Given the description of an element on the screen output the (x, y) to click on. 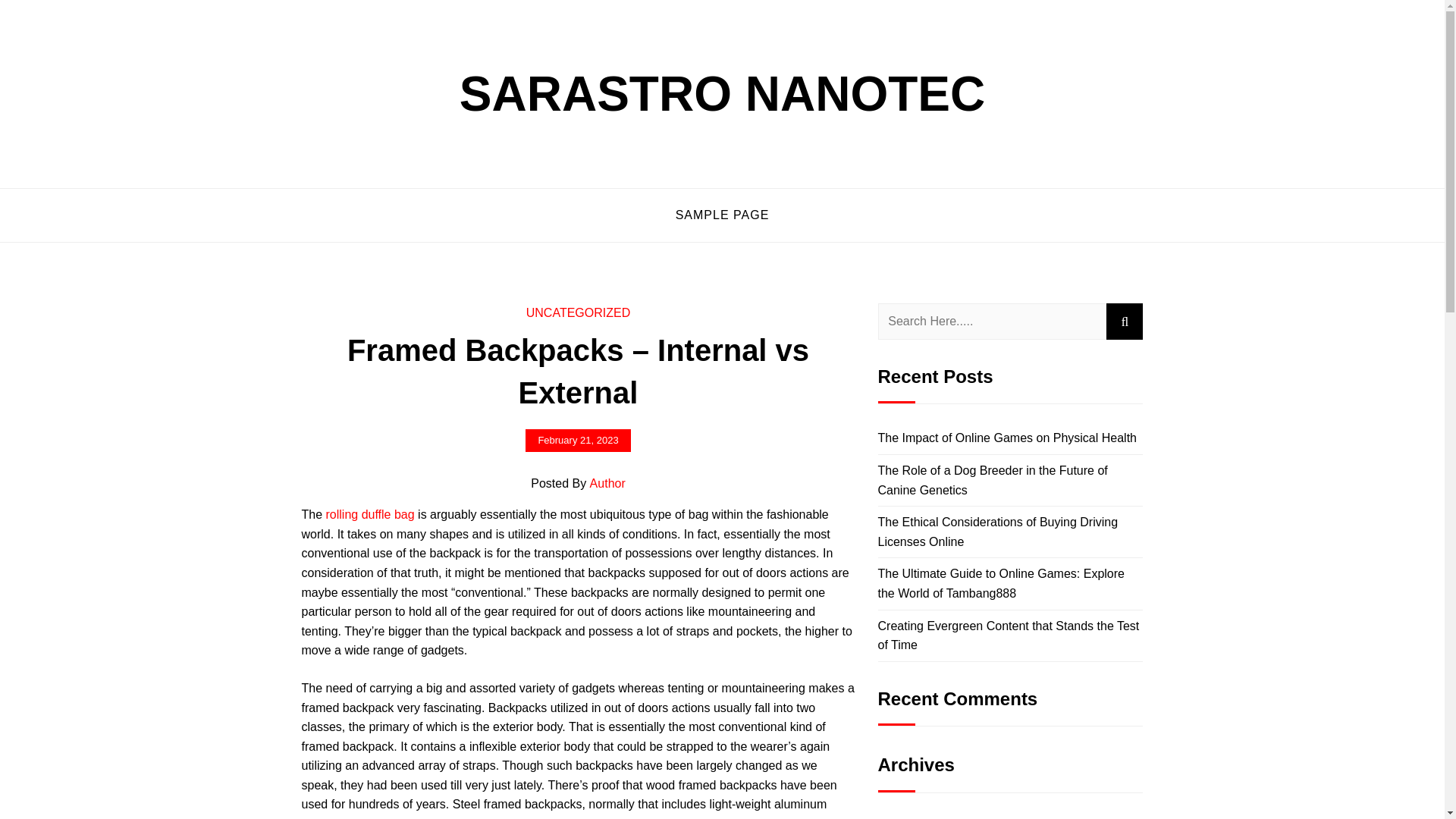
SAMPLE PAGE (722, 215)
Posted By Author (578, 483)
Creating Evergreen Content that Stands the Test of Time (1008, 635)
The Role of a Dog Breeder in the Future of Canine Genetics (992, 480)
rolling duffle bag (370, 513)
SARASTRO NANOTEC (722, 93)
The Impact of Online Games on Physical Health (1007, 437)
UNCATEGORIZED (577, 312)
The Ethical Considerations of Buying Driving Licenses Online (997, 531)
February 21, 2023 (577, 440)
